Given the description of an element on the screen output the (x, y) to click on. 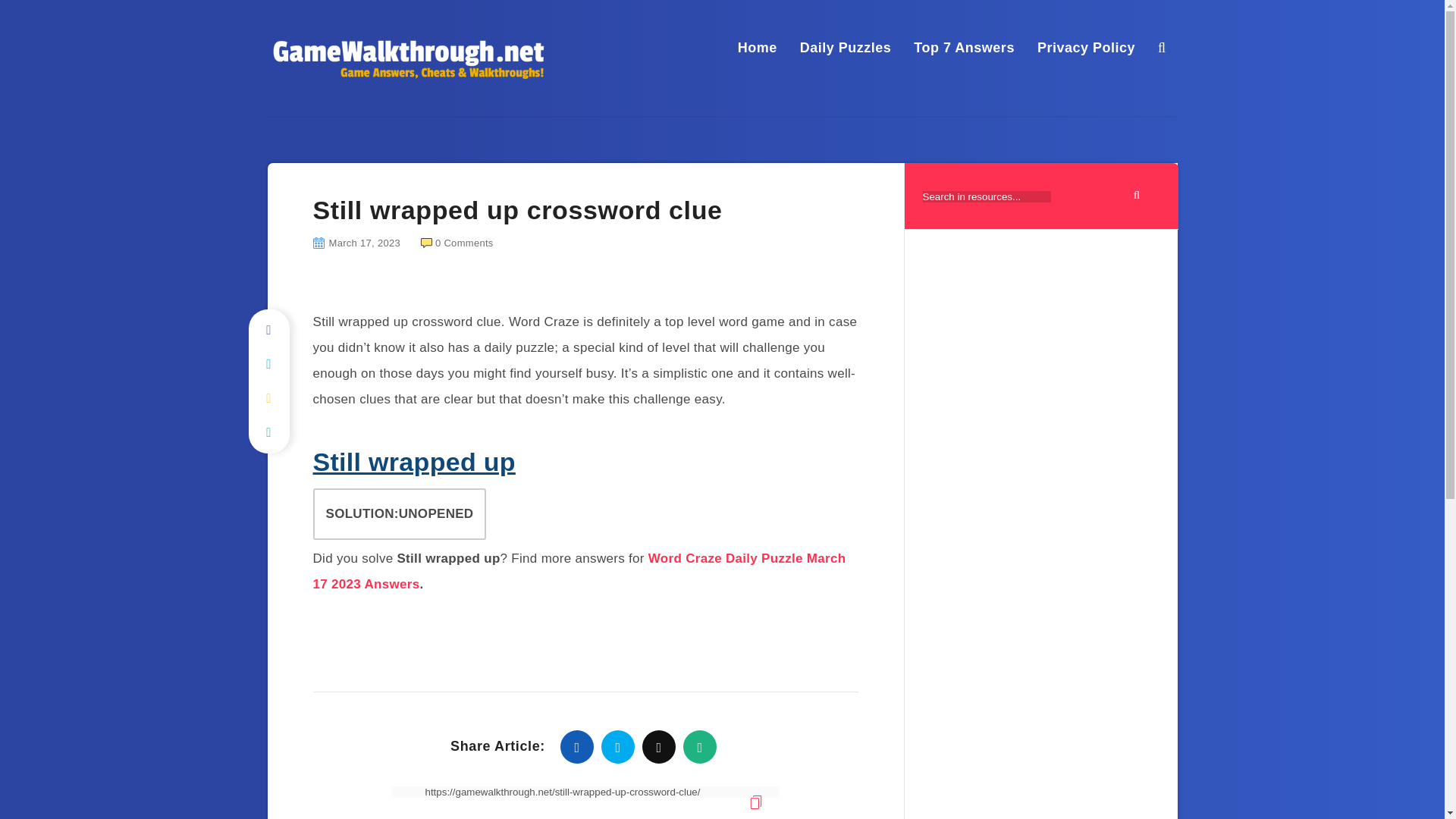
Go to comments (456, 242)
Privacy Policy (1085, 47)
0 Comments (456, 242)
Daily Puzzles (845, 47)
Word Craze Daily Puzzle March 17 2023 Answers (579, 571)
Home (757, 47)
Top 7 Answers (964, 47)
